Given the description of an element on the screen output the (x, y) to click on. 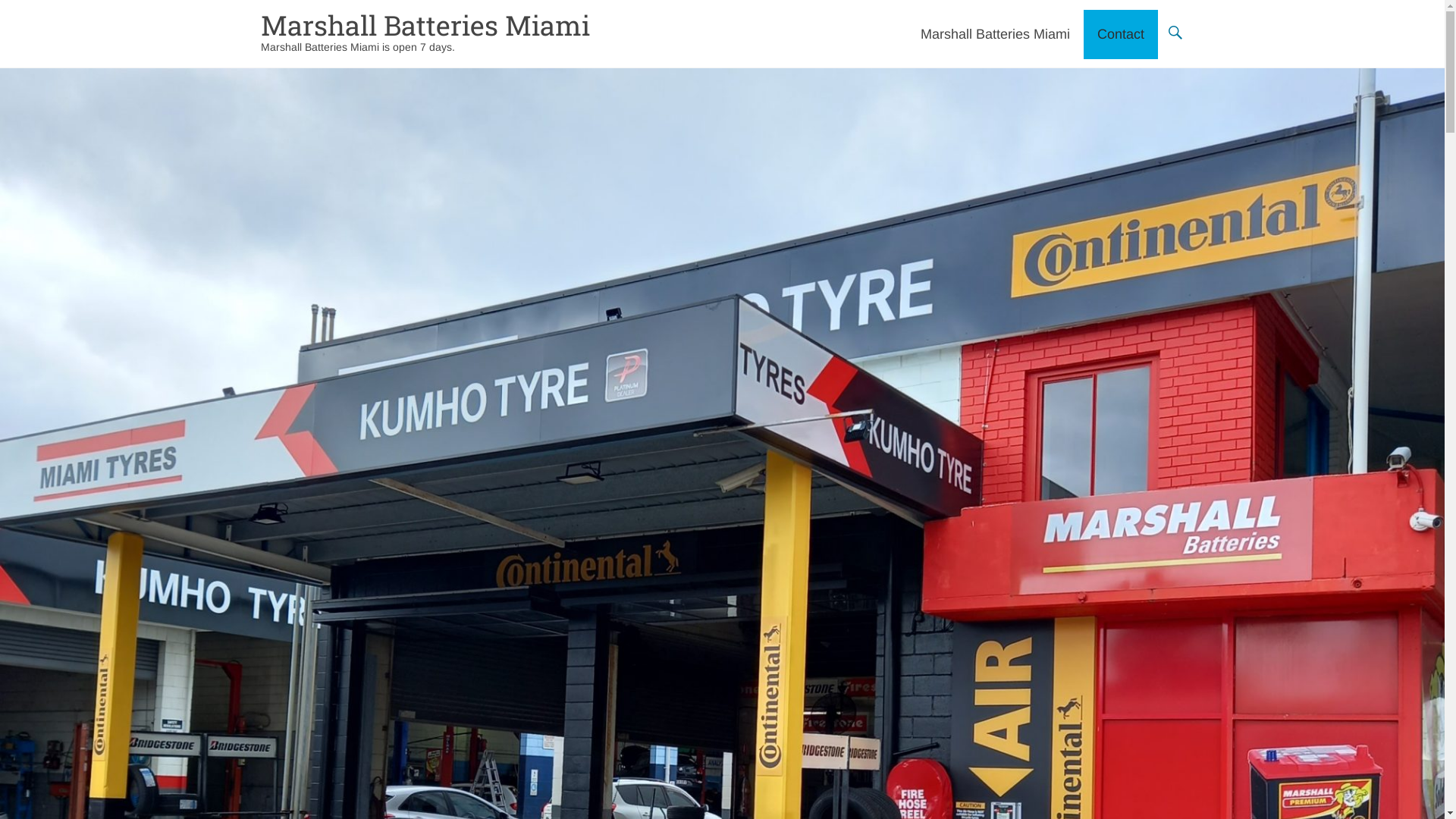
Marshall Batteries Miami Element type: text (994, 34)
Marshall Batteries Miami Element type: text (424, 24)
Skip to content Element type: text (918, 9)
Contact Element type: text (1119, 34)
